Given the description of an element on the screen output the (x, y) to click on. 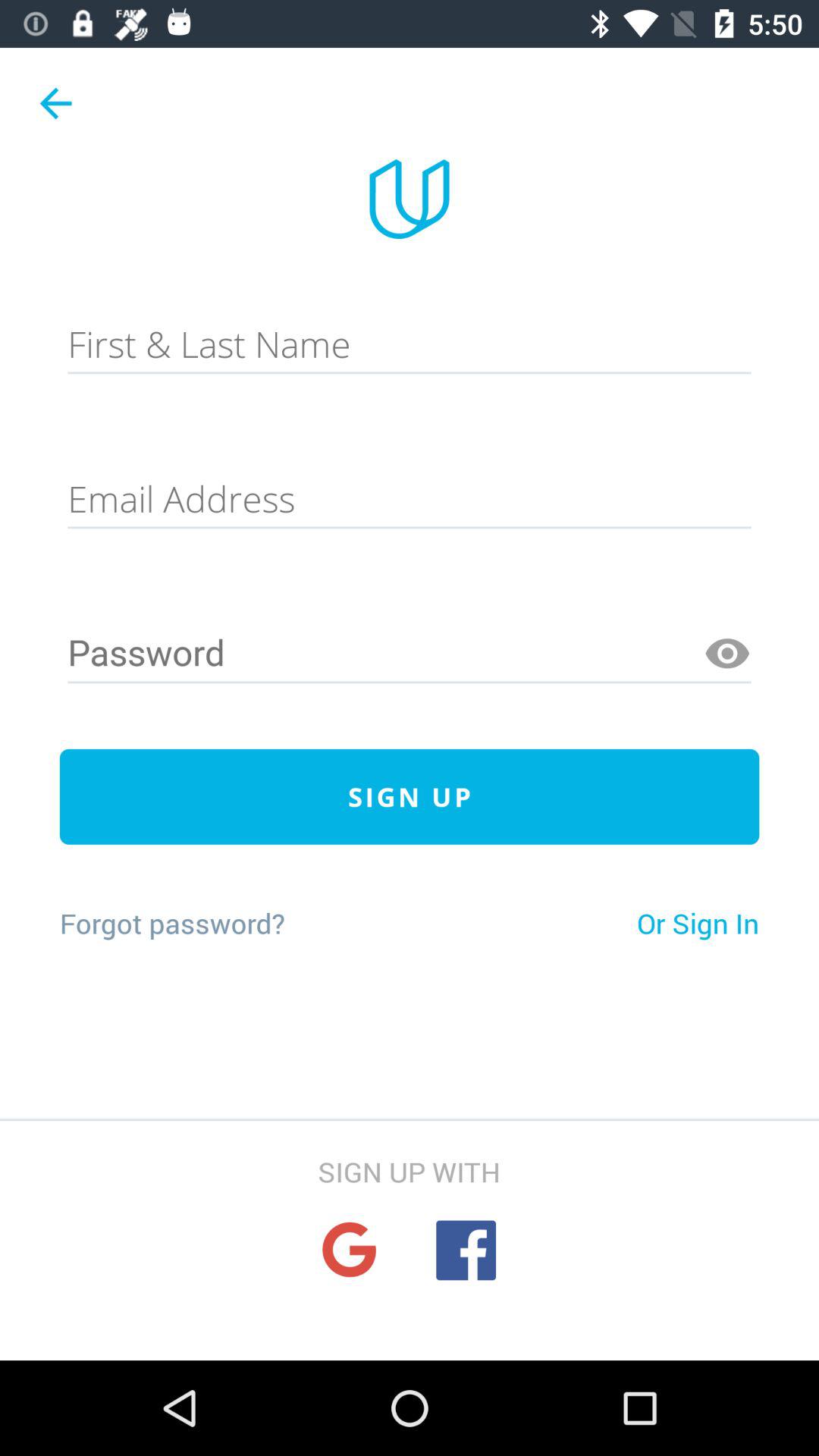
use google account to sign up (348, 1249)
